Given the description of an element on the screen output the (x, y) to click on. 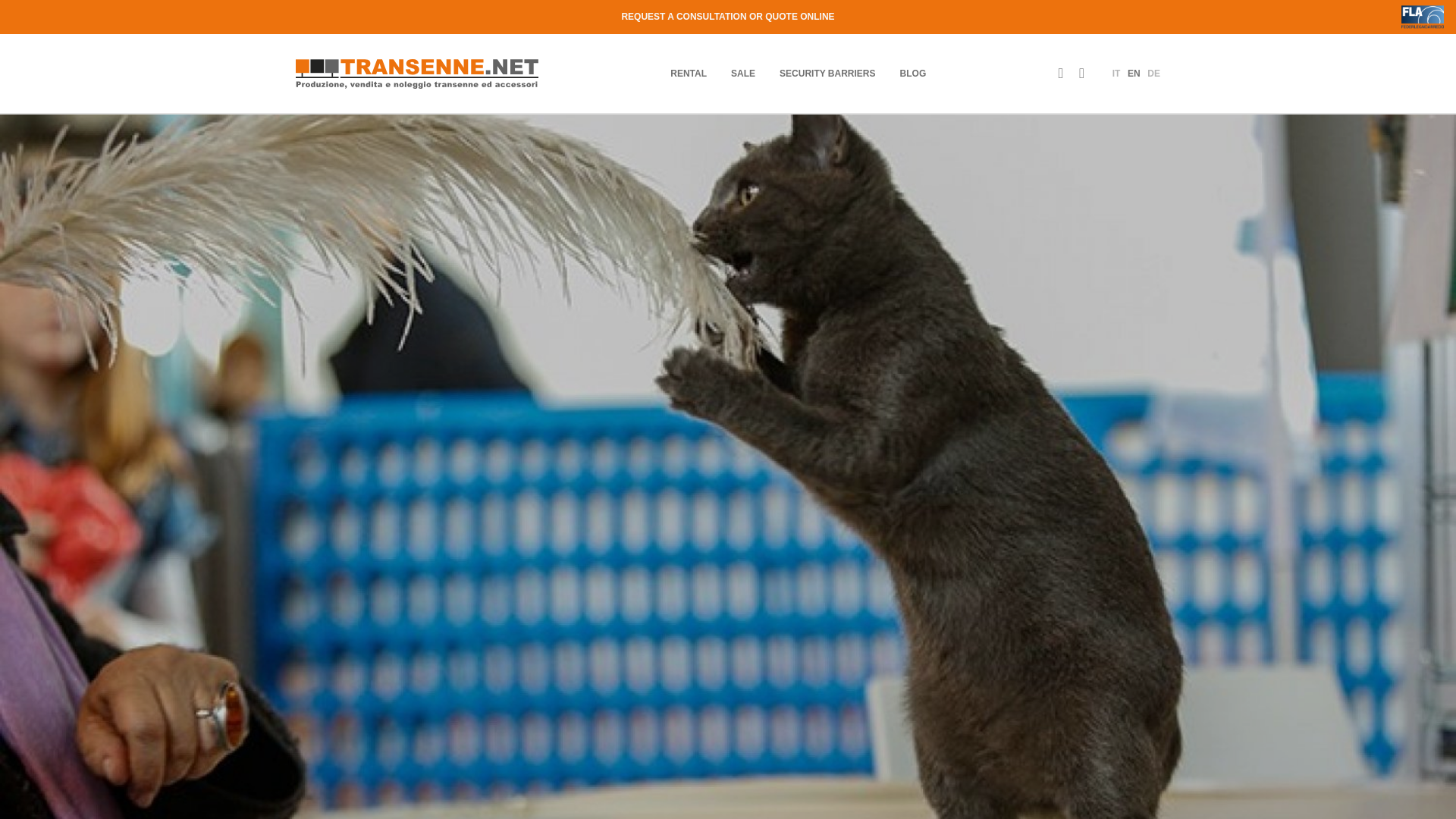
SECURITY BARRIERS (826, 72)
IT (1116, 72)
DE (1153, 72)
EN (1133, 72)
RENTAL (687, 72)
Home (416, 73)
BLOG (912, 72)
SALE (742, 72)
REQUEST A CONSULTATION OR QUOTE ONLINE (727, 16)
